Given the description of an element on the screen output the (x, y) to click on. 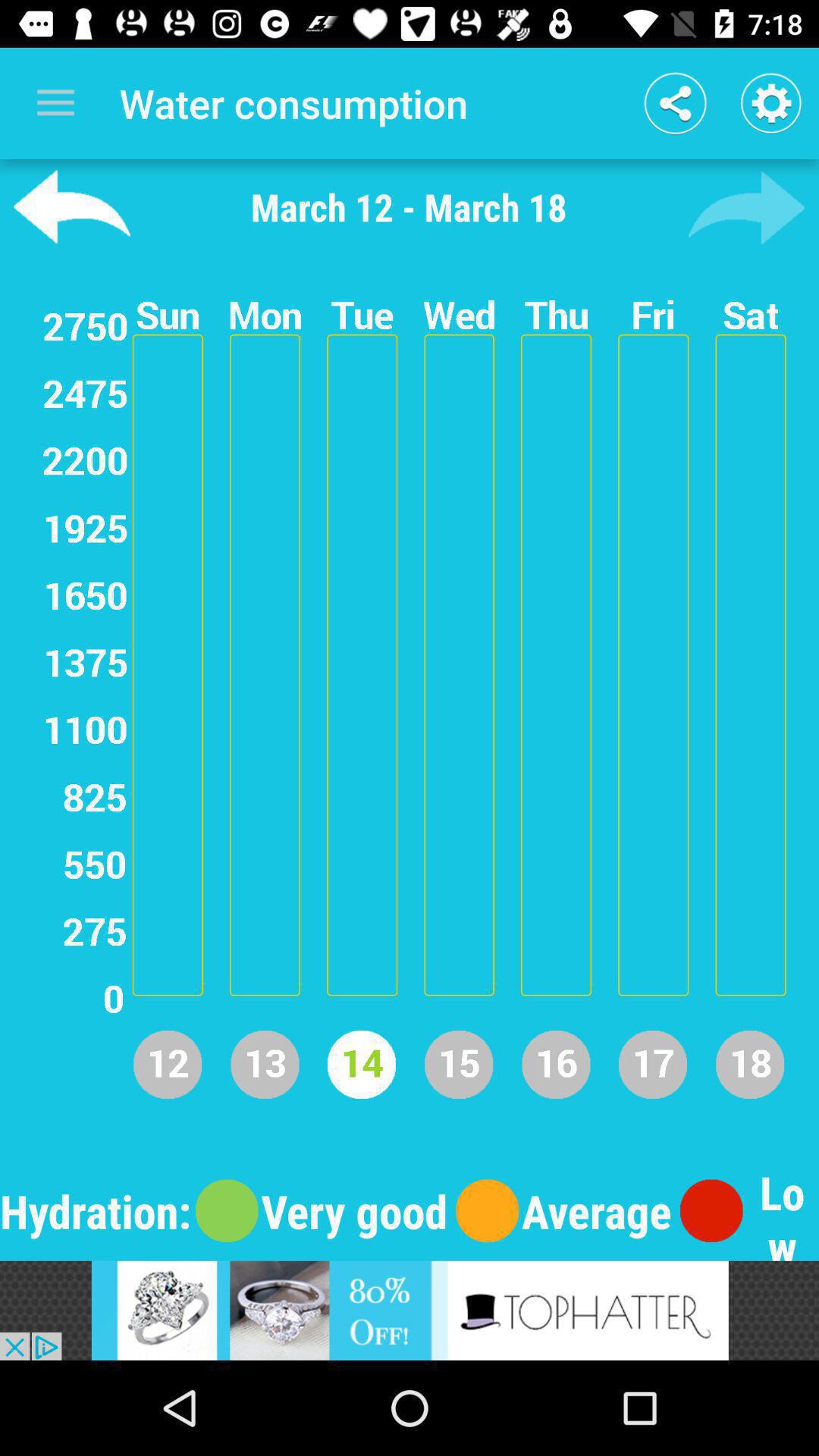
select the red dot right to the average (710, 1211)
